Given the description of an element on the screen output the (x, y) to click on. 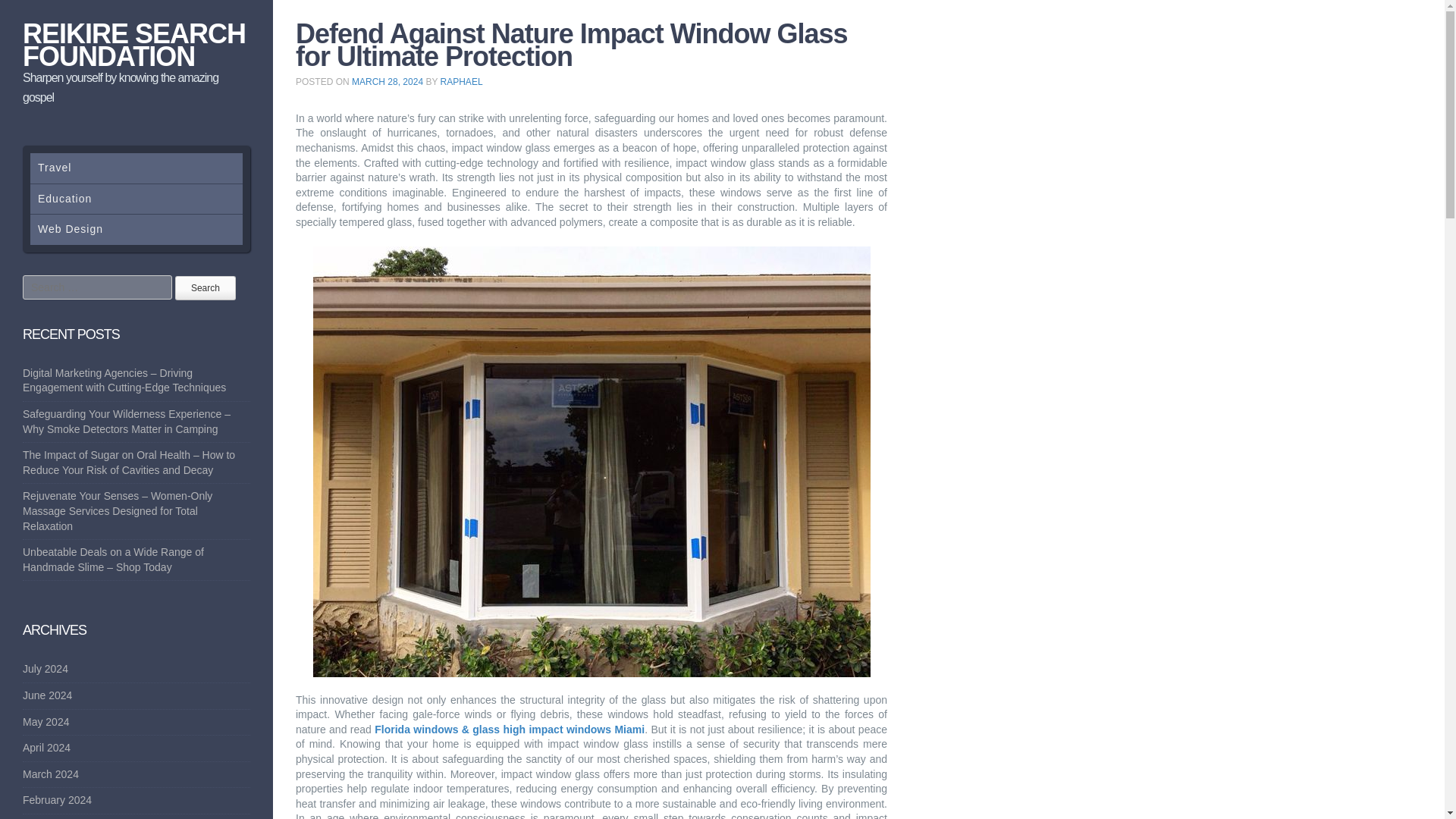
Travel (136, 168)
June 2024 (47, 695)
May 2024 (45, 721)
Web Design (136, 228)
Education (136, 198)
April 2024 (46, 747)
Search (204, 288)
July 2024 (45, 668)
February 2024 (57, 799)
REIKIRE SEARCH FOUNDATION (134, 45)
Search (204, 288)
View all posts by Raphael (462, 81)
March 2024 (50, 774)
5:25 am (387, 81)
Reikire Search Foundation (134, 45)
